Given the description of an element on the screen output the (x, y) to click on. 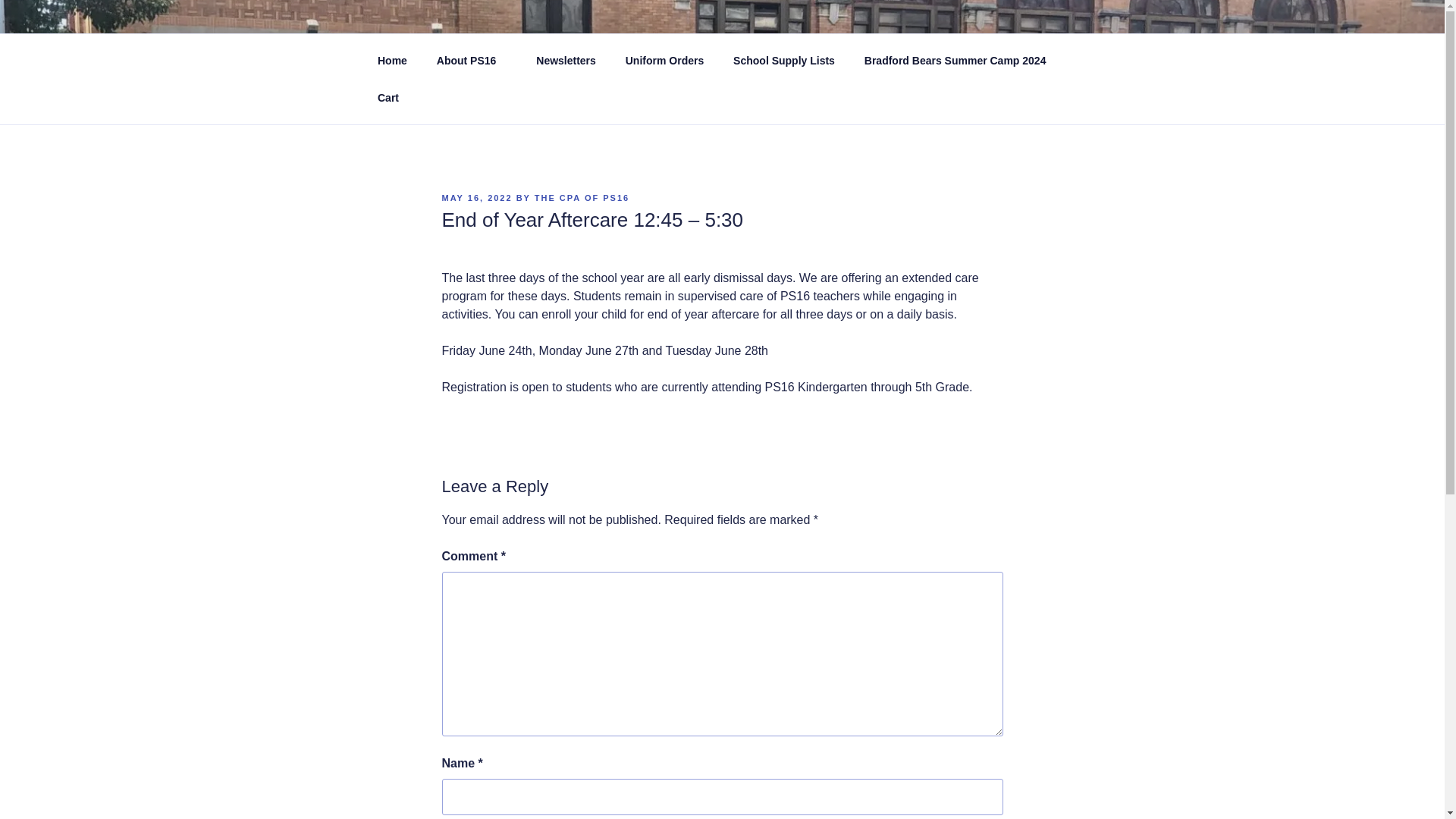
Cart (388, 97)
THE CPA OF PS16 (581, 197)
Newsletters (566, 60)
School Supply Lists (784, 60)
CORNELIA F. BRADFORD SCHOOL PS16 (708, 52)
Uniform Orders (663, 60)
About PS16 (471, 60)
Home (392, 60)
MAY 16, 2022 (476, 197)
Bradford Bears Summer Camp 2024 (960, 60)
